Given the description of an element on the screen output the (x, y) to click on. 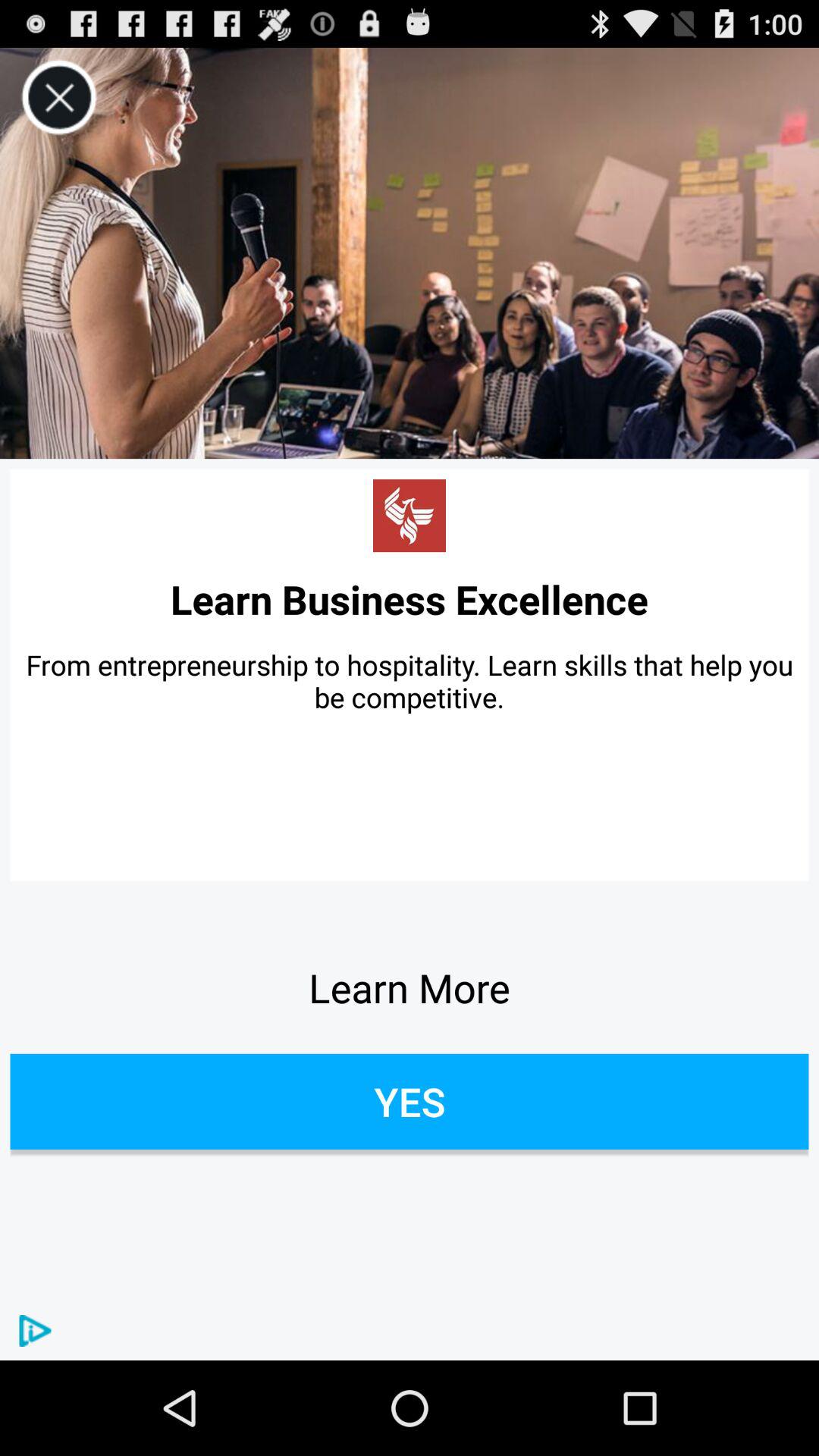
turn on the yes (409, 1101)
